Given the description of an element on the screen output the (x, y) to click on. 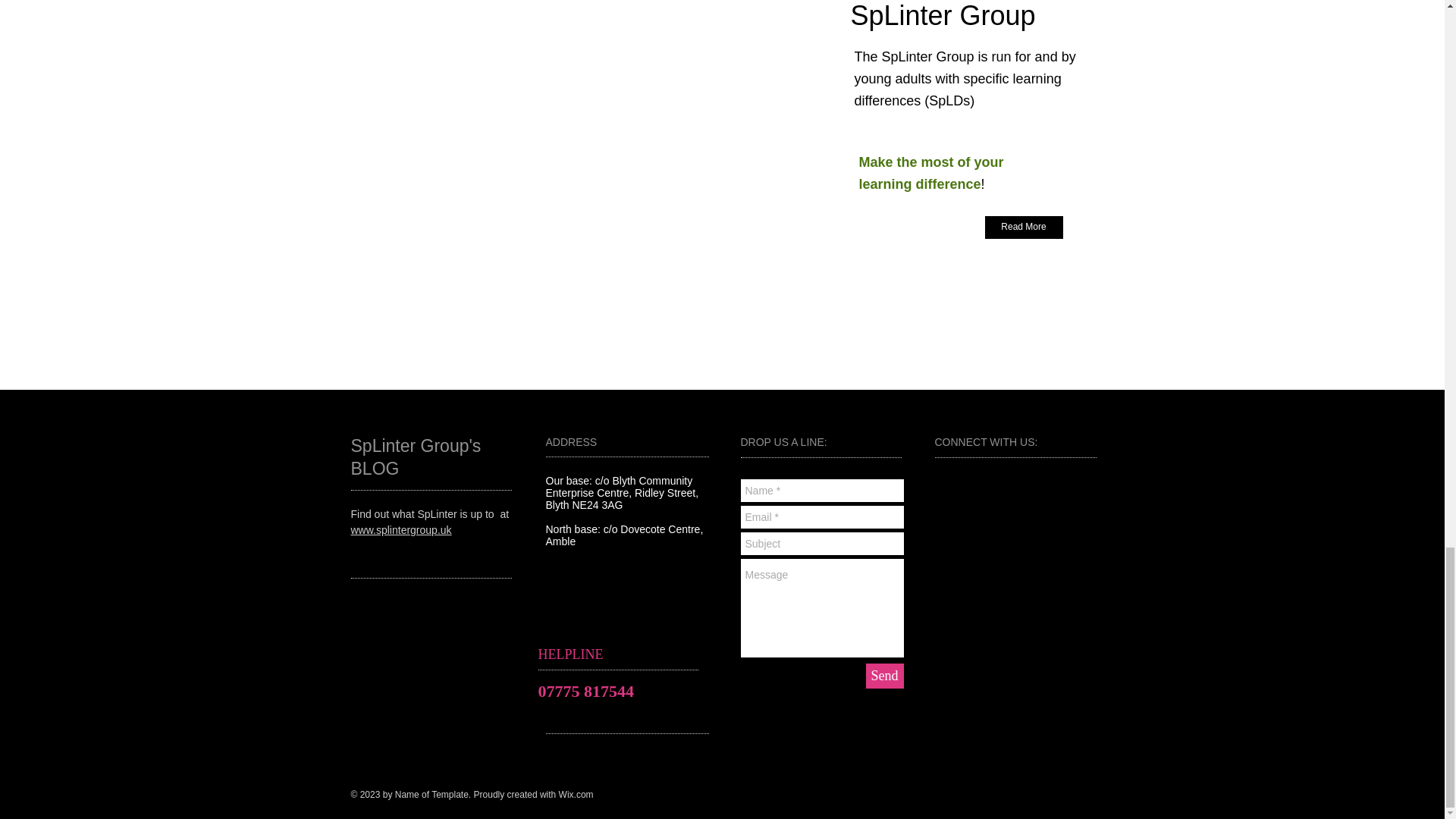
www.splintergroup.uk (400, 530)
SpLinter Group (942, 21)
Read More (1023, 227)
Send (885, 675)
Wix.com (576, 794)
